Given the description of an element on the screen output the (x, y) to click on. 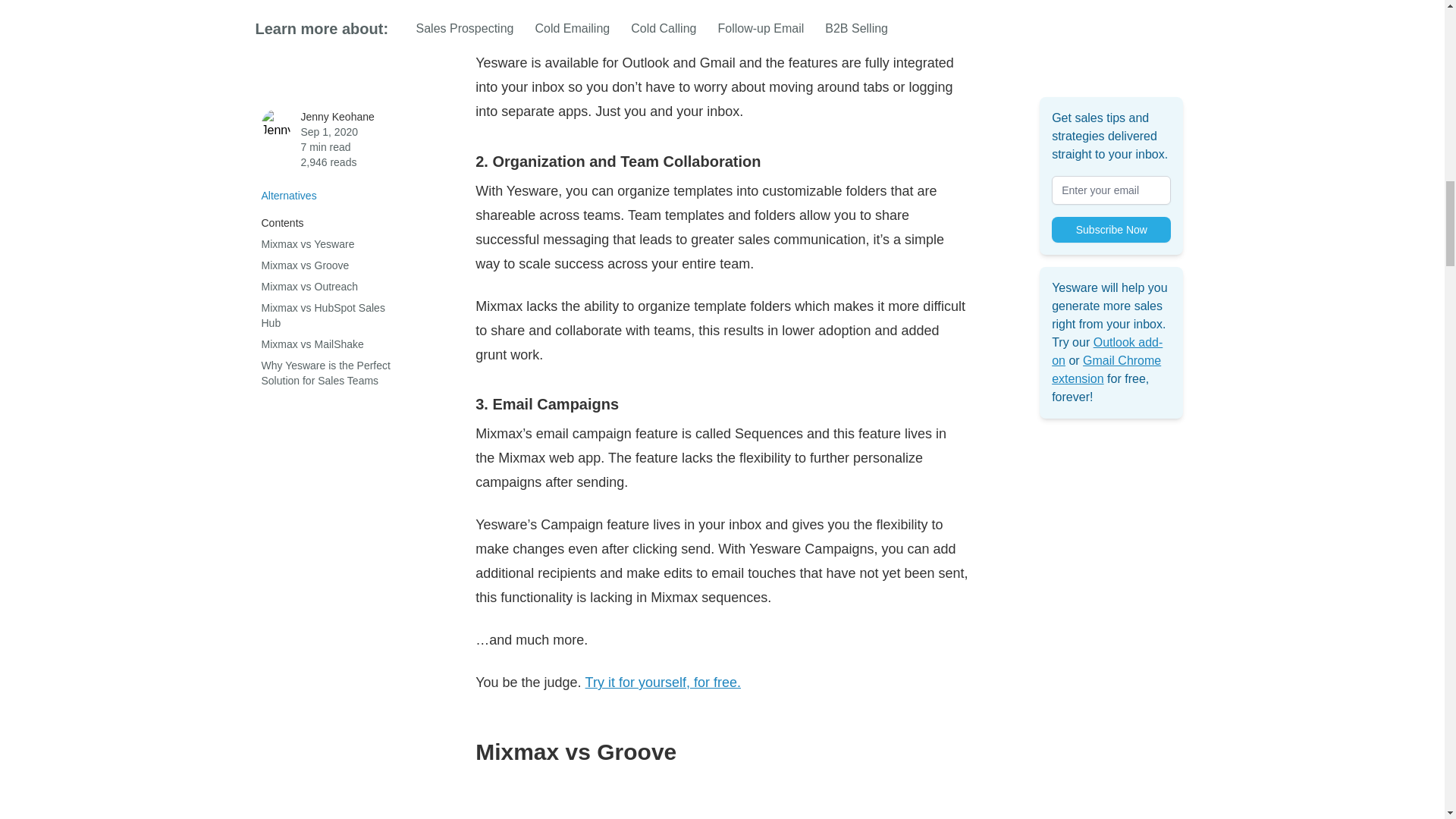
Try it for yourself, for free. (663, 682)
